Given the description of an element on the screen output the (x, y) to click on. 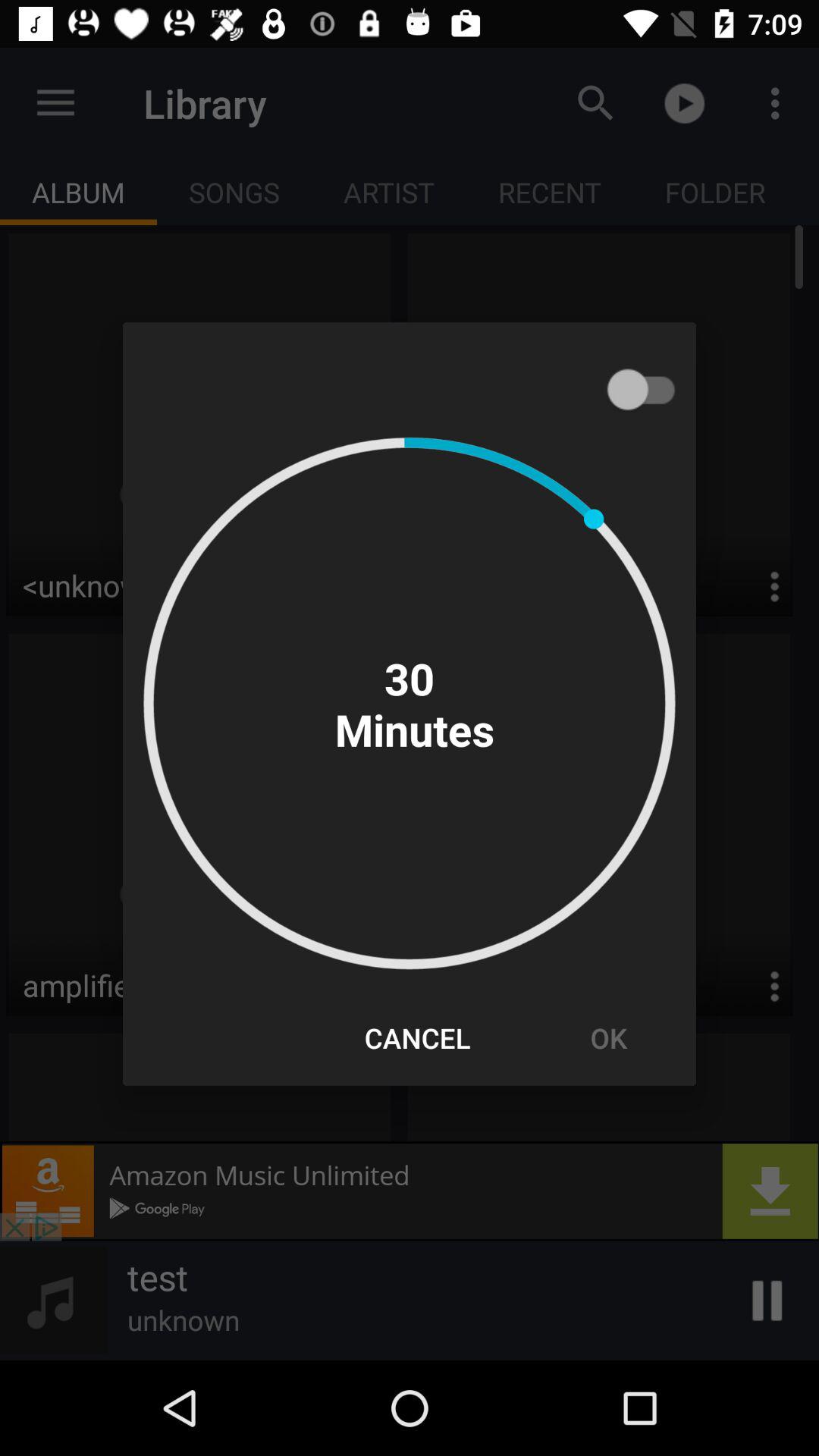
scroll to the ok item (608, 1037)
